Given the description of an element on the screen output the (x, y) to click on. 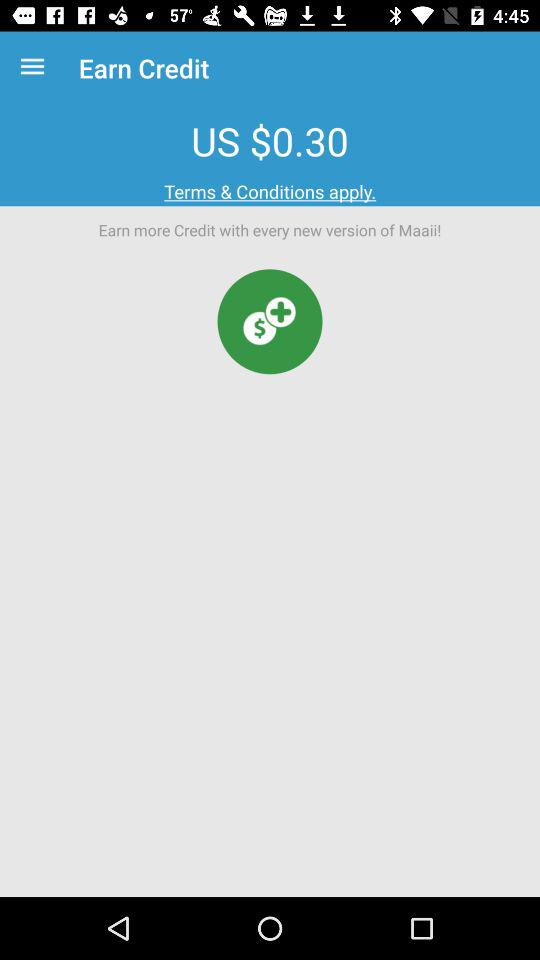
launch app below us $0.30 item (270, 191)
